Given the description of an element on the screen output the (x, y) to click on. 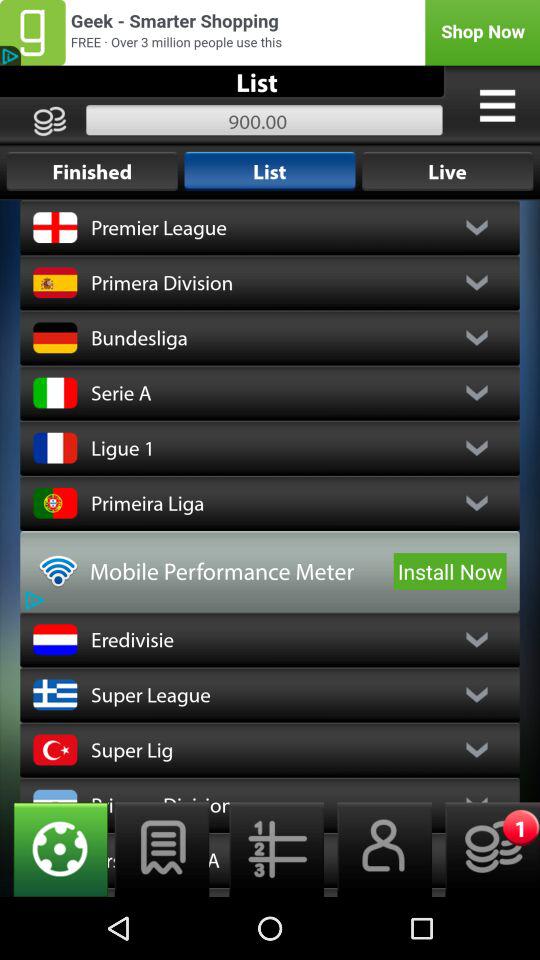
switch to notes (161, 849)
